Given the description of an element on the screen output the (x, y) to click on. 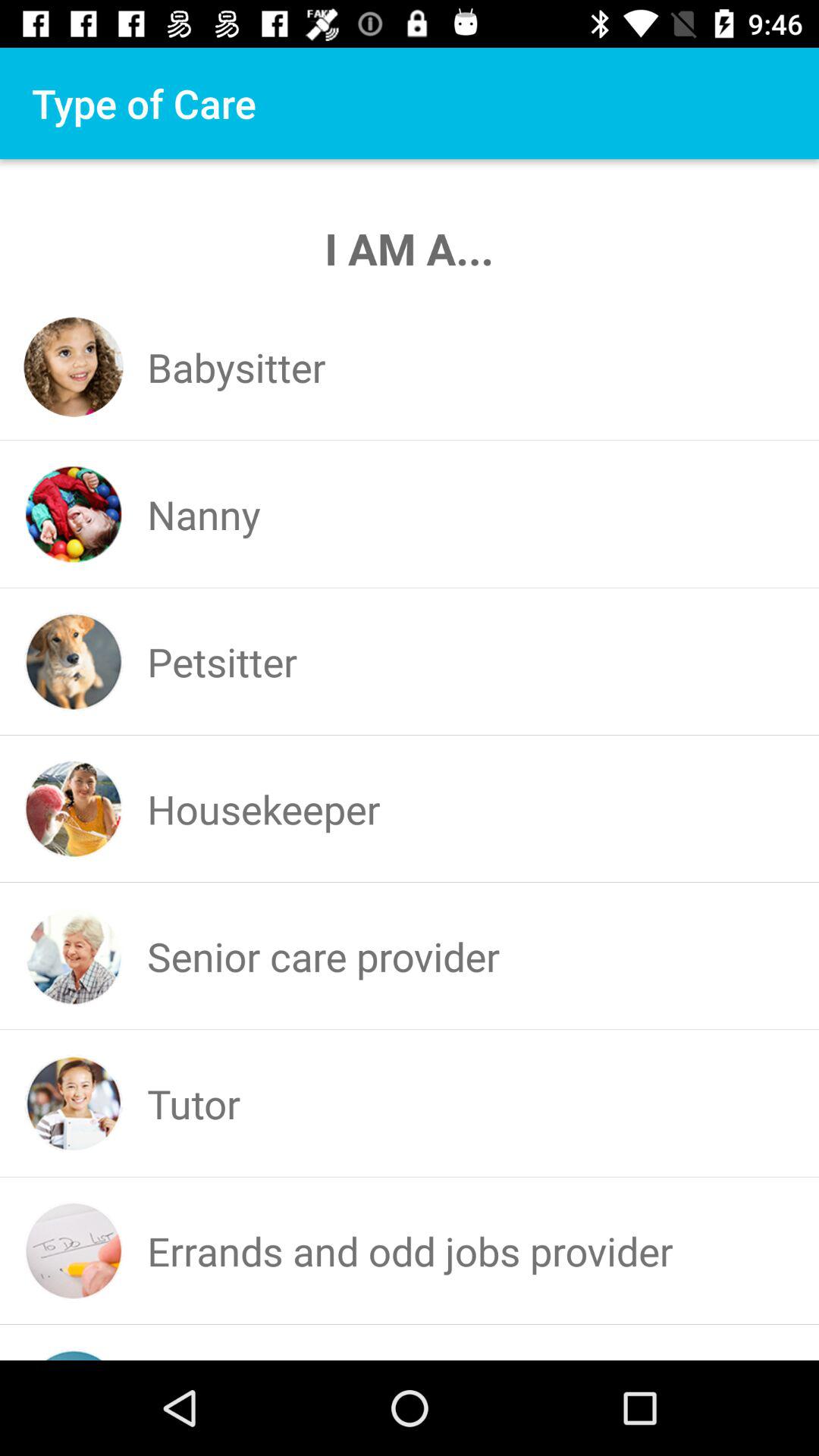
scroll to the babysitter app (236, 366)
